Given the description of an element on the screen output the (x, y) to click on. 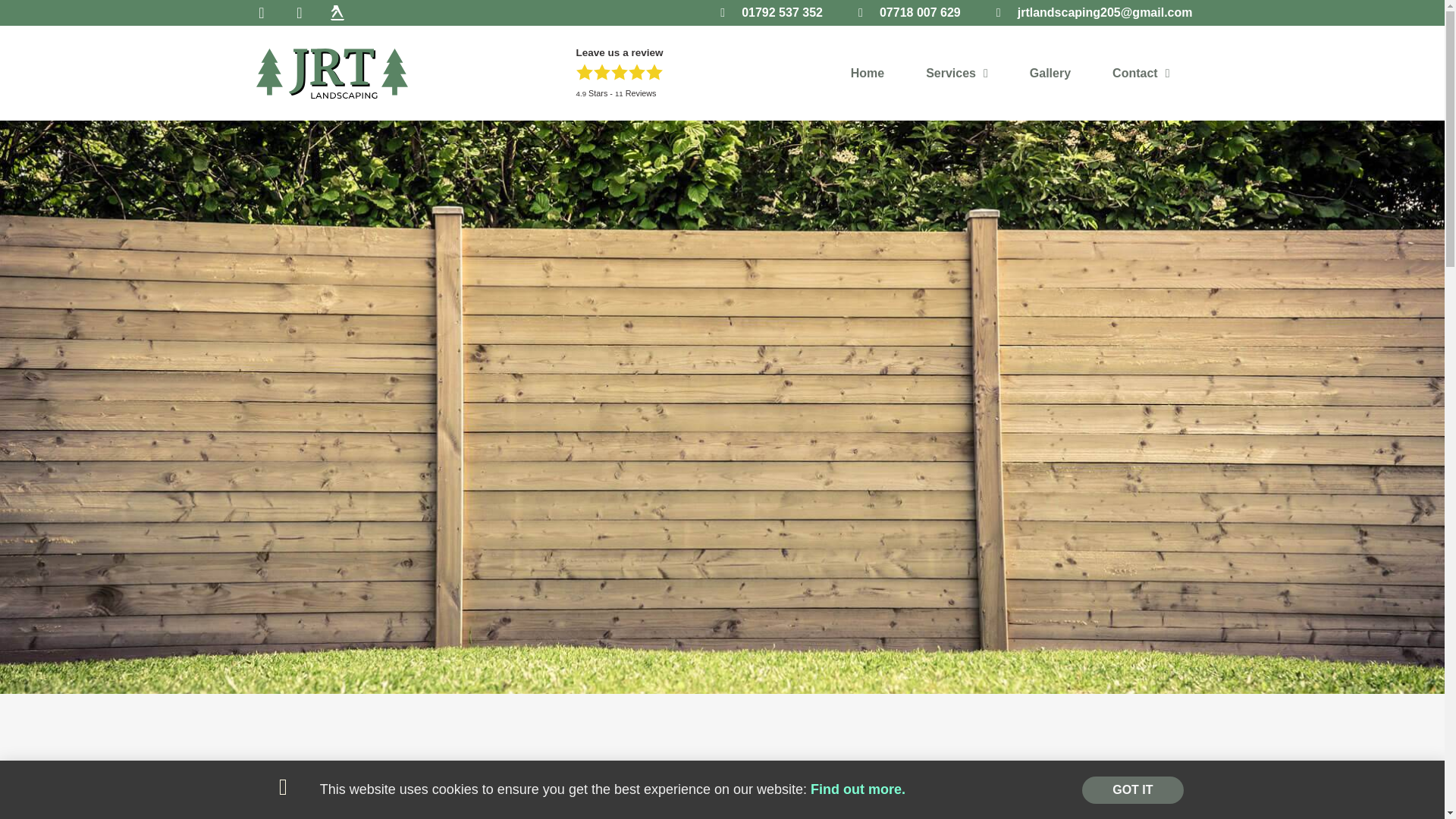
07718 007 629 (906, 13)
Contact (1140, 73)
Services (957, 73)
01792 537 352 (768, 13)
Gallery (1049, 73)
Home (866, 73)
